Given the description of an element on the screen output the (x, y) to click on. 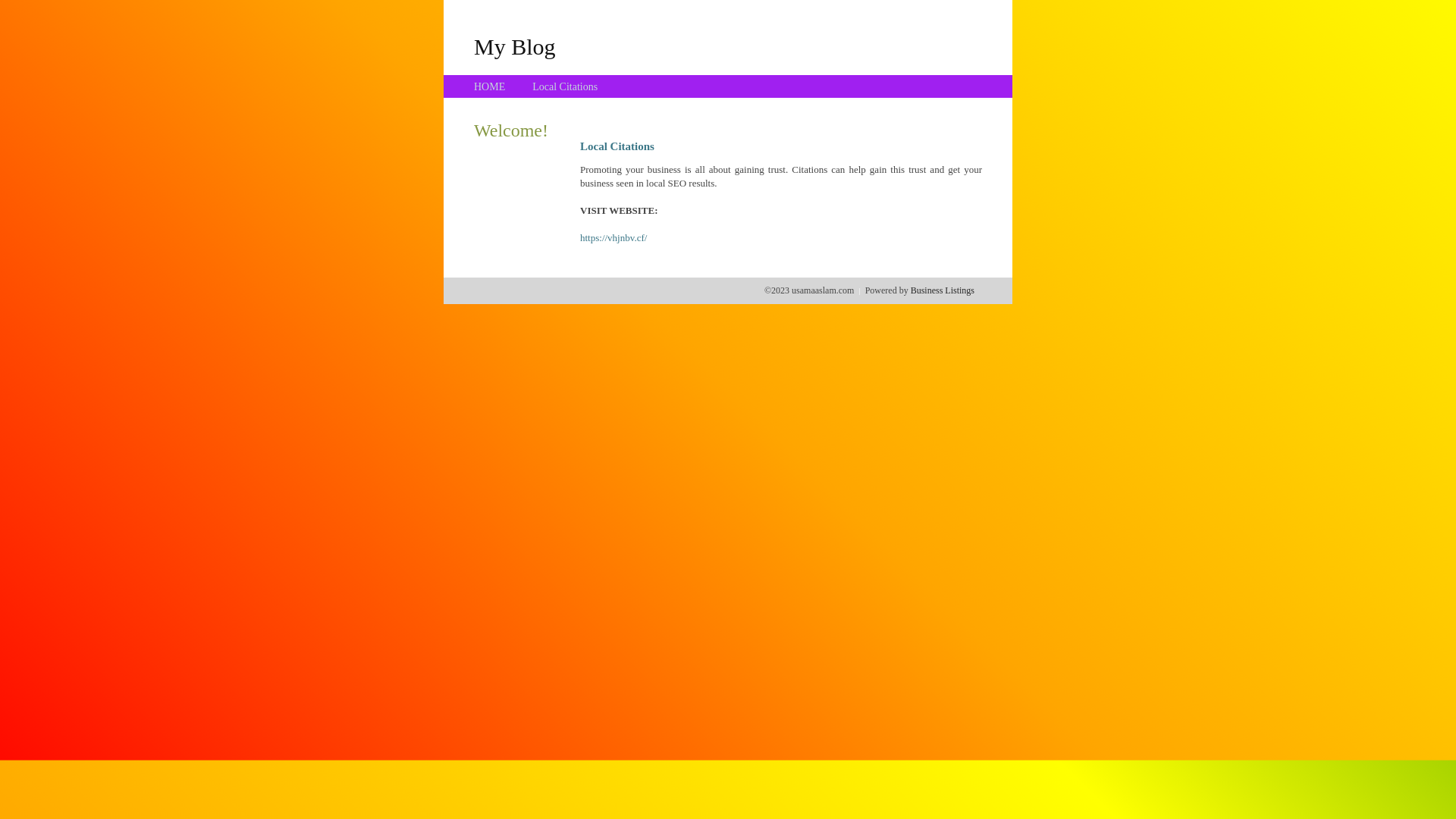
Local Citations Element type: text (564, 86)
https://vhjnbv.cf/ Element type: text (613, 237)
Business Listings Element type: text (942, 290)
HOME Element type: text (489, 86)
My Blog Element type: text (514, 46)
